Given the description of an element on the screen output the (x, y) to click on. 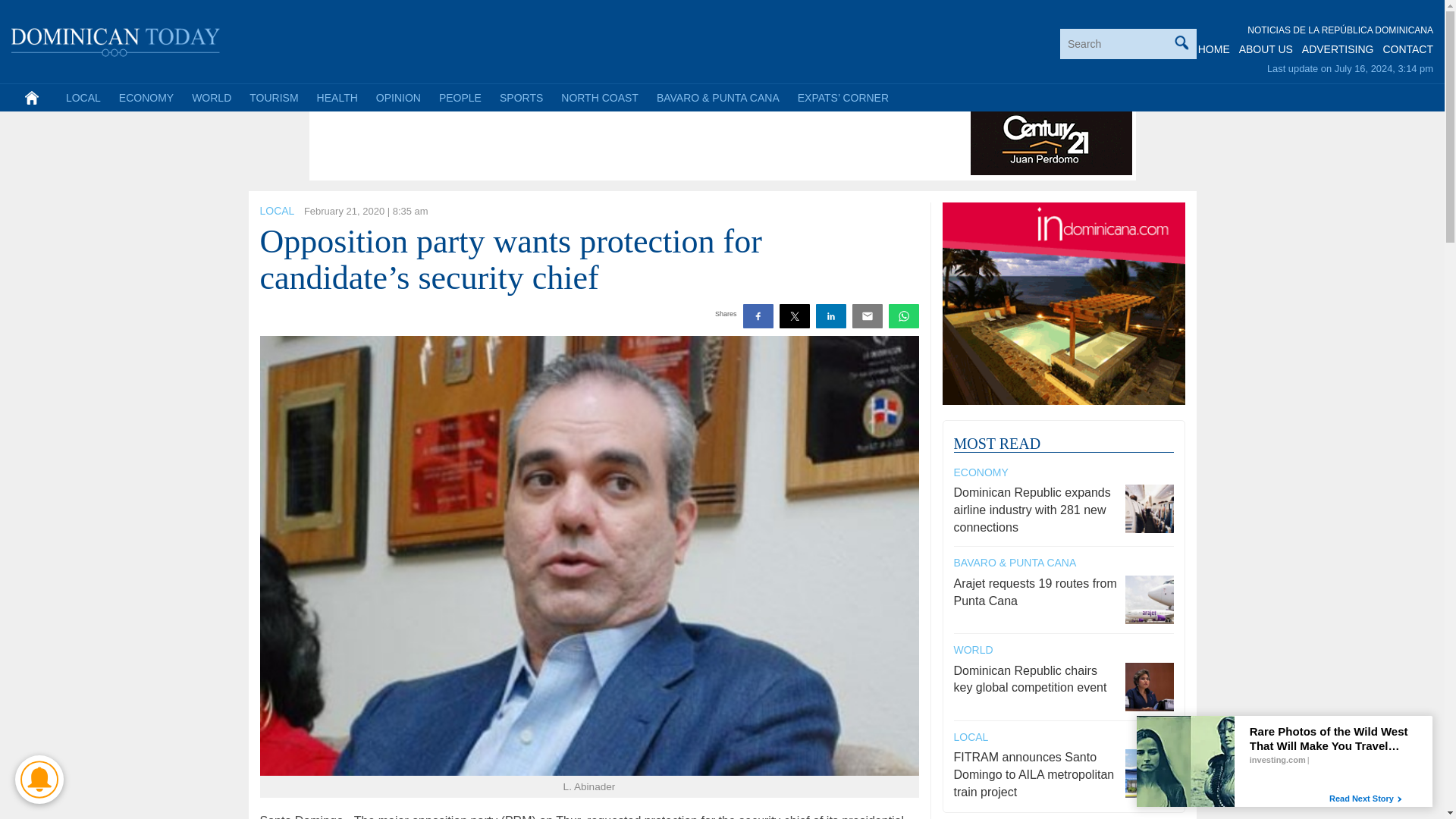
CONTACT (1406, 49)
PEOPLE (459, 97)
HEALTH (336, 97)
ECONOMY (146, 97)
ADVERTISING (1337, 49)
OPINION (397, 97)
LOCAL (83, 97)
HOME (1214, 49)
TOURISM (273, 97)
LOCAL (276, 210)
NORTH COAST (599, 97)
WORLD (211, 97)
Advertisement (589, 141)
Dominican Today News - Santo Domingo and Dominican Republic (116, 38)
